Given the description of an element on the screen output the (x, y) to click on. 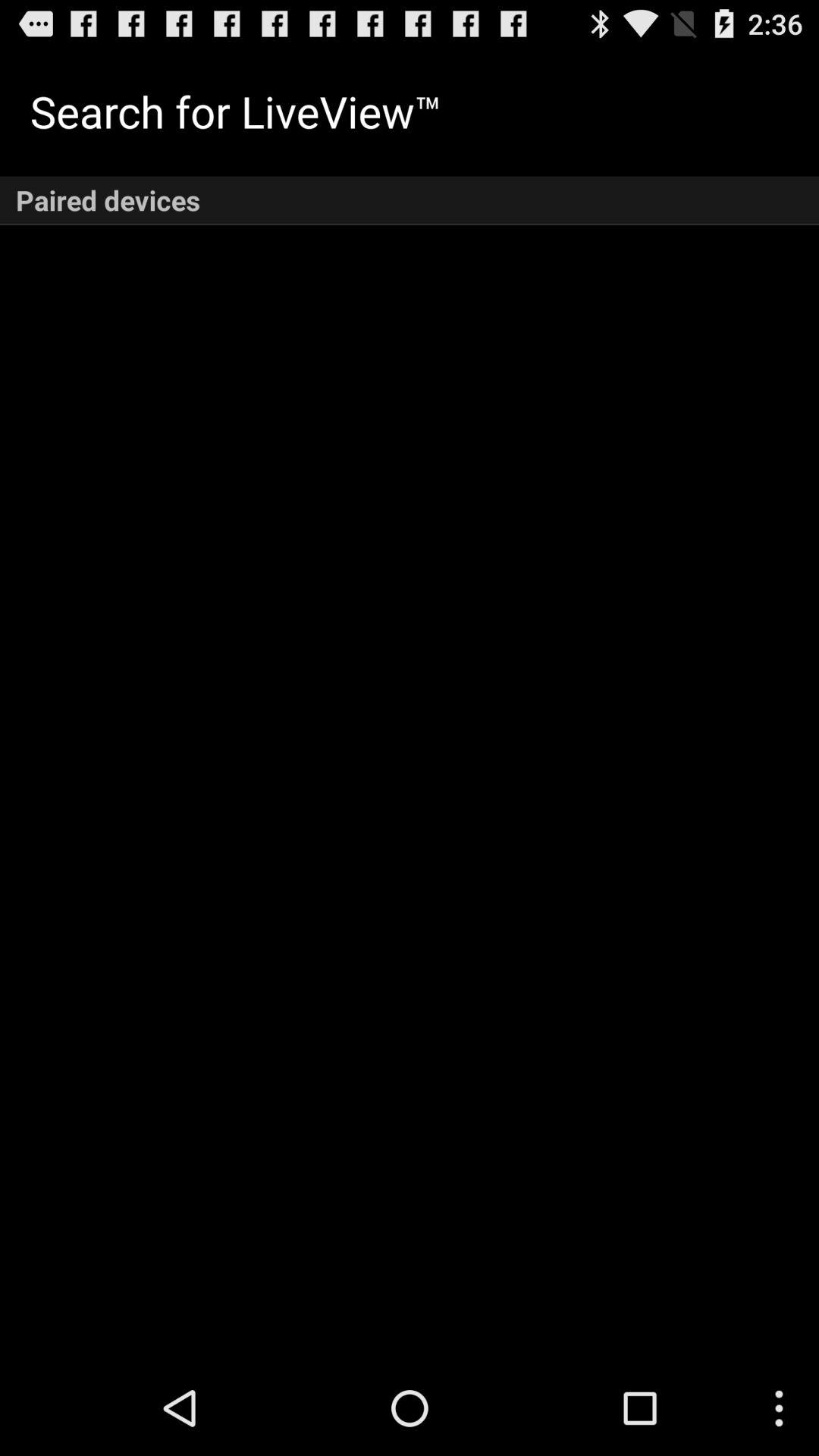
tap the icon at the top left corner (235, 110)
